Given the description of an element on the screen output the (x, y) to click on. 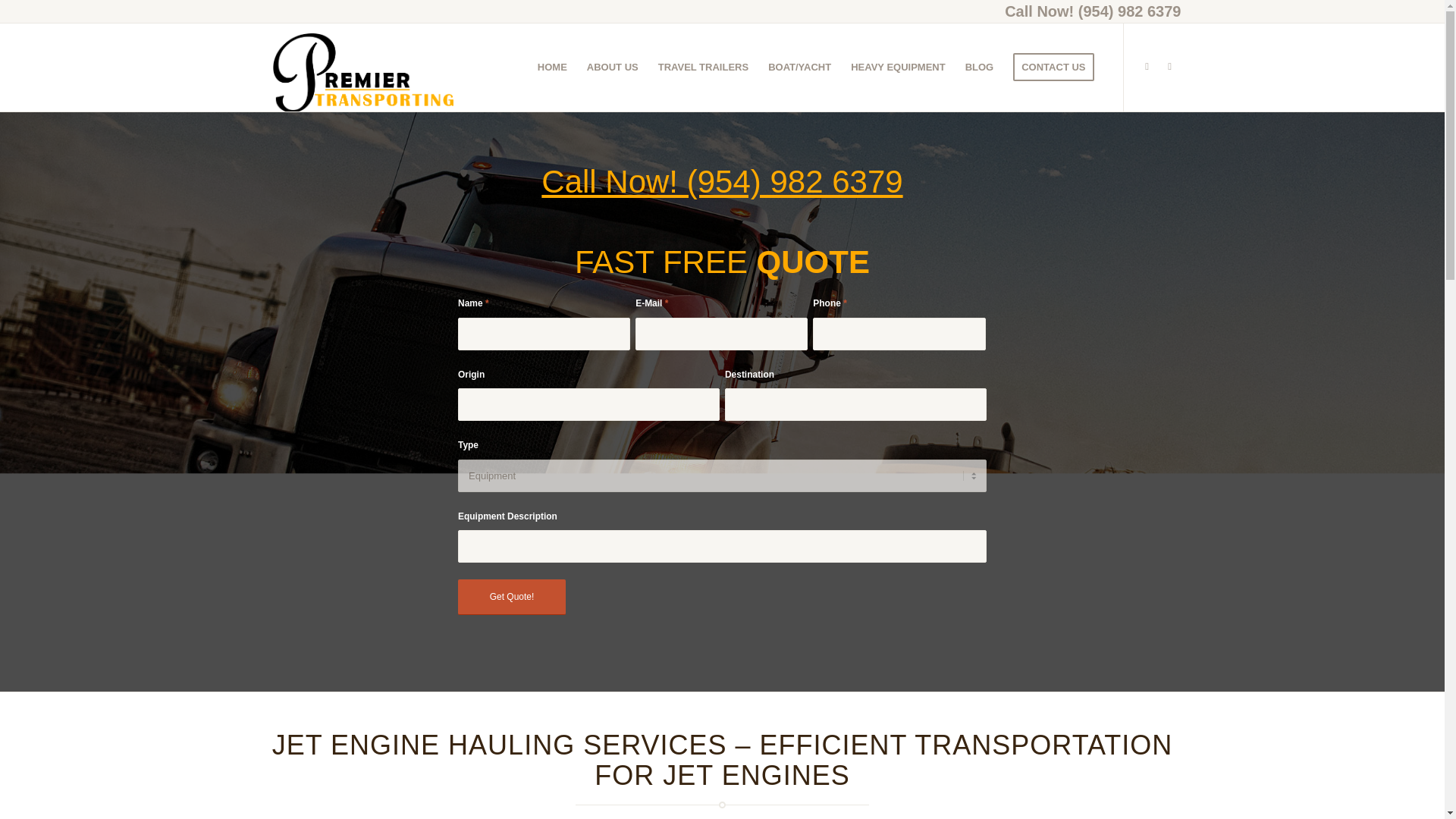
Premier Transporting (363, 67)
HEAVY EQUIPMENT (898, 67)
Facebook (1146, 66)
Youtube (1169, 66)
TRAVEL TRAILERS (702, 67)
Get Quote! (512, 597)
Get Quote! (512, 597)
CONTACT US (1053, 67)
